Given the description of an element on the screen output the (x, y) to click on. 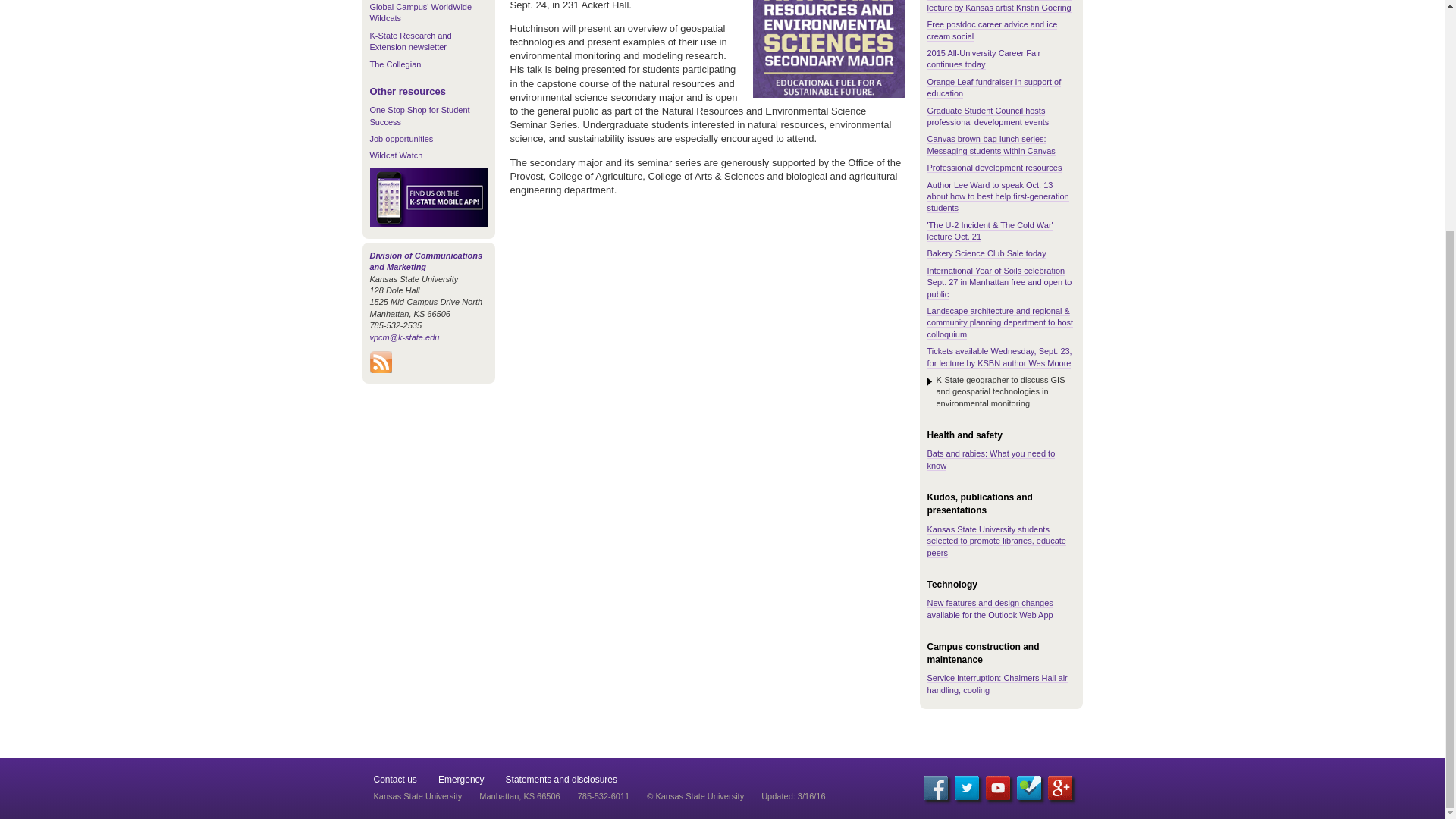
Job opportunities (401, 138)
Free postdoc career advice and ice cream social (991, 29)
K-State Research and Extension newsletter (410, 41)
Subscribe to K-State Today RSS feeds (380, 369)
